Given the description of an element on the screen output the (x, y) to click on. 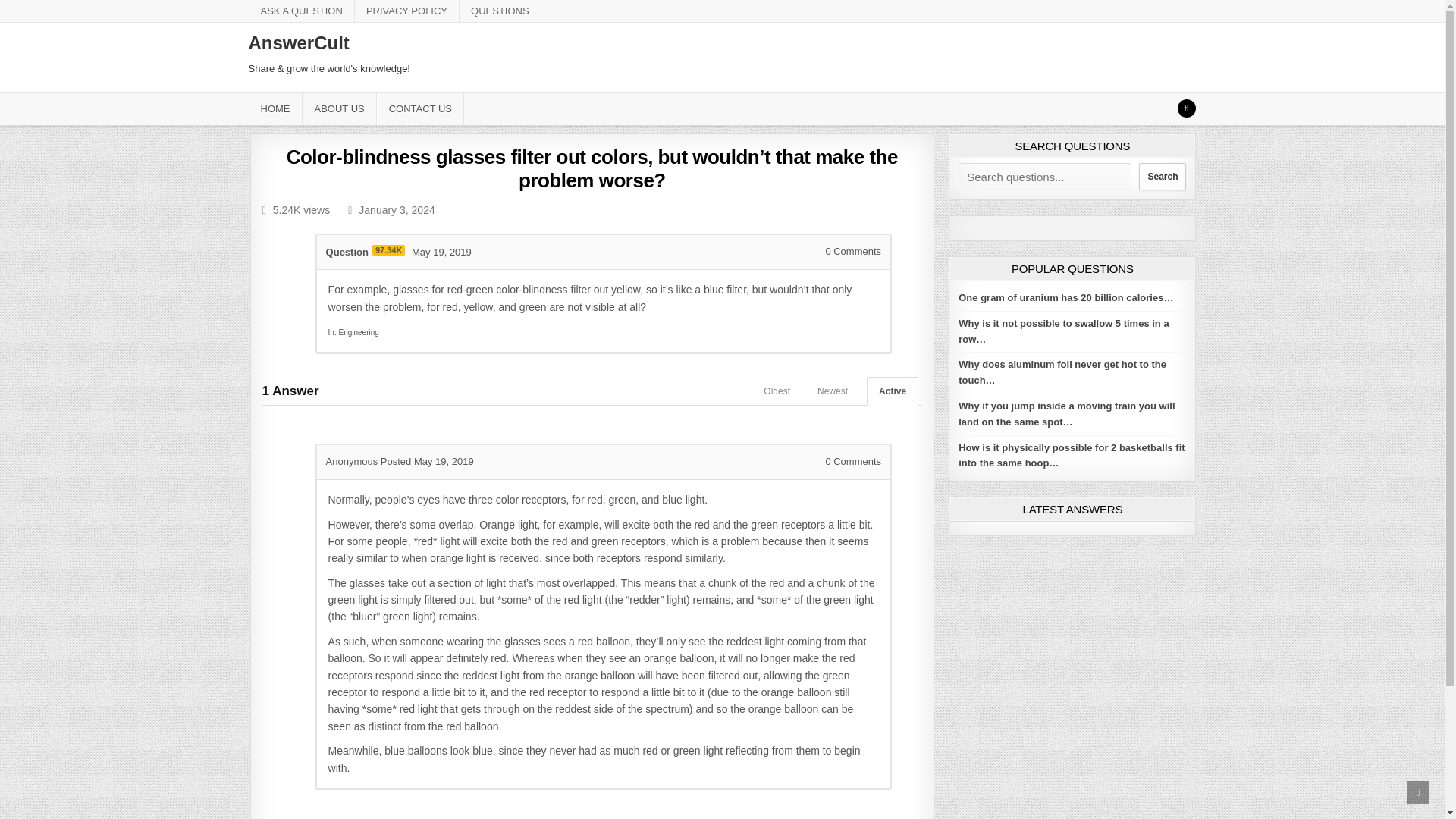
Reputation (388, 249)
Scroll to Top (1417, 792)
97.34K (388, 249)
Search (1162, 176)
Question (347, 251)
HOME (275, 108)
ABOUT US (338, 108)
Posted May 19, 2019 (427, 460)
CONTACT US (420, 108)
PRIVACY POLICY (407, 11)
